Given the description of an element on the screen output the (x, y) to click on. 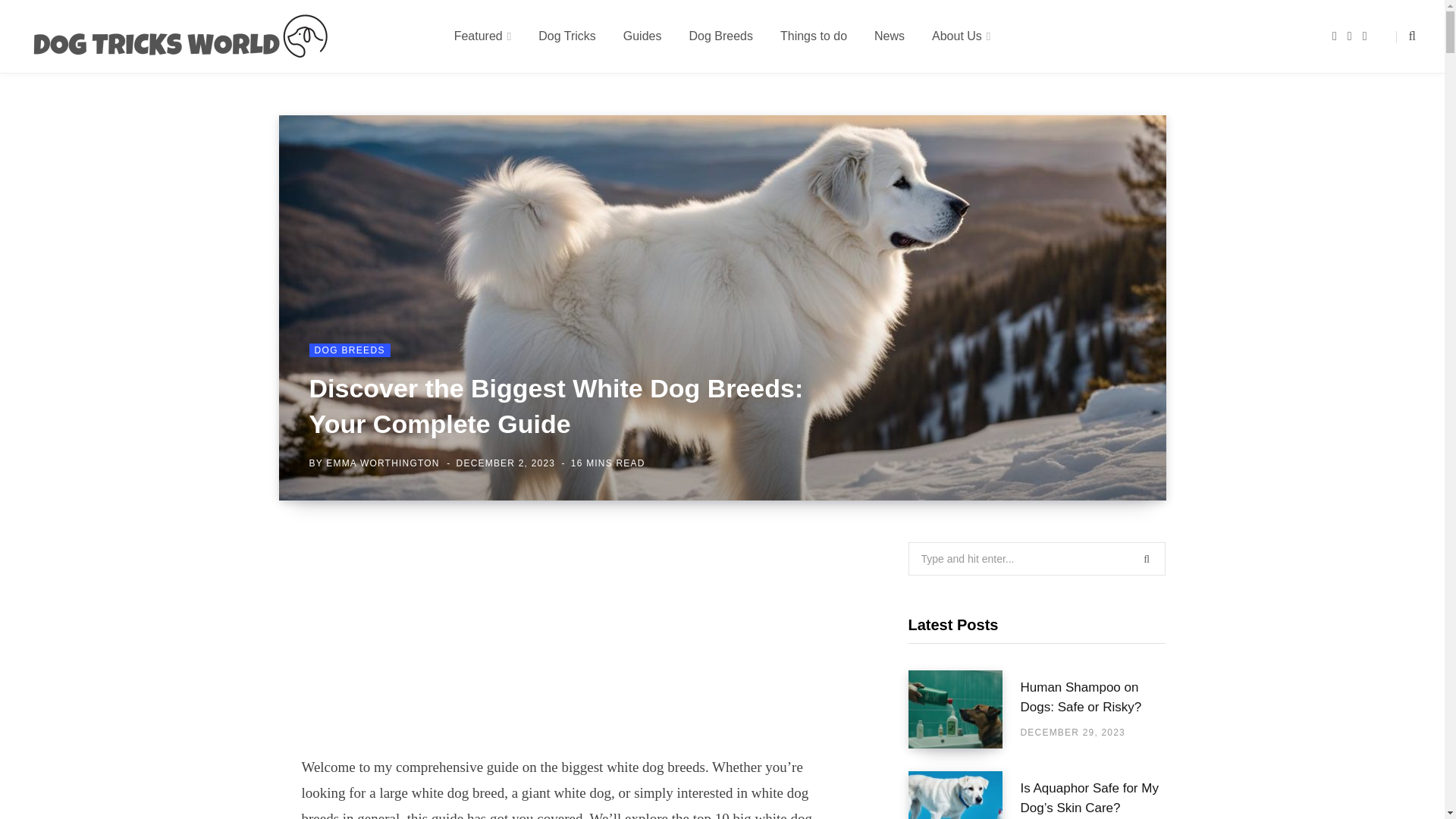
About Us (961, 36)
Things to do (813, 36)
Advertisement (570, 648)
EMMA WORTHINGTON (382, 462)
DOG BREEDS (349, 350)
Featured (483, 36)
Dog Tricks World (180, 36)
Posts by Emma Worthington (382, 462)
Guides (642, 36)
Dog Breeds (721, 36)
